Given the description of an element on the screen output the (x, y) to click on. 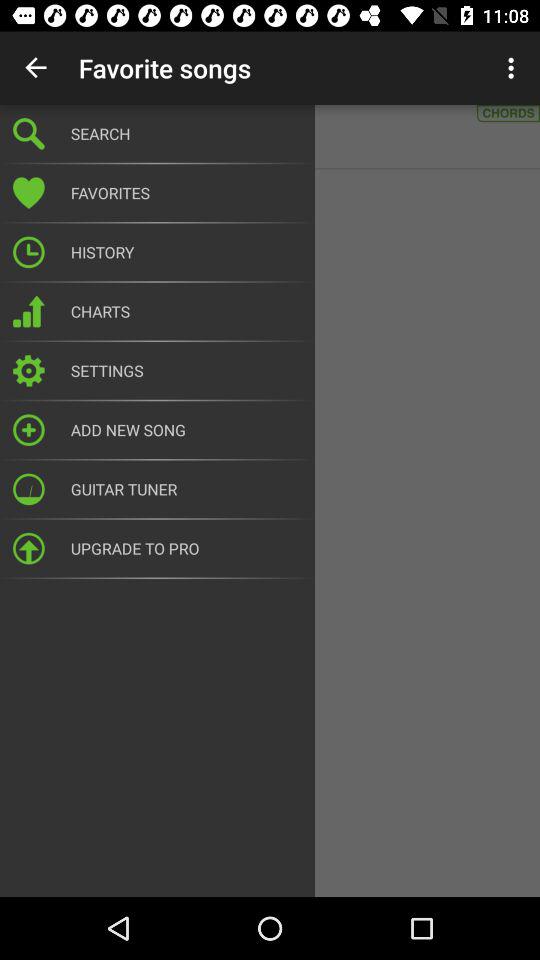
tap item to the right of search icon (513, 67)
